Given the description of an element on the screen output the (x, y) to click on. 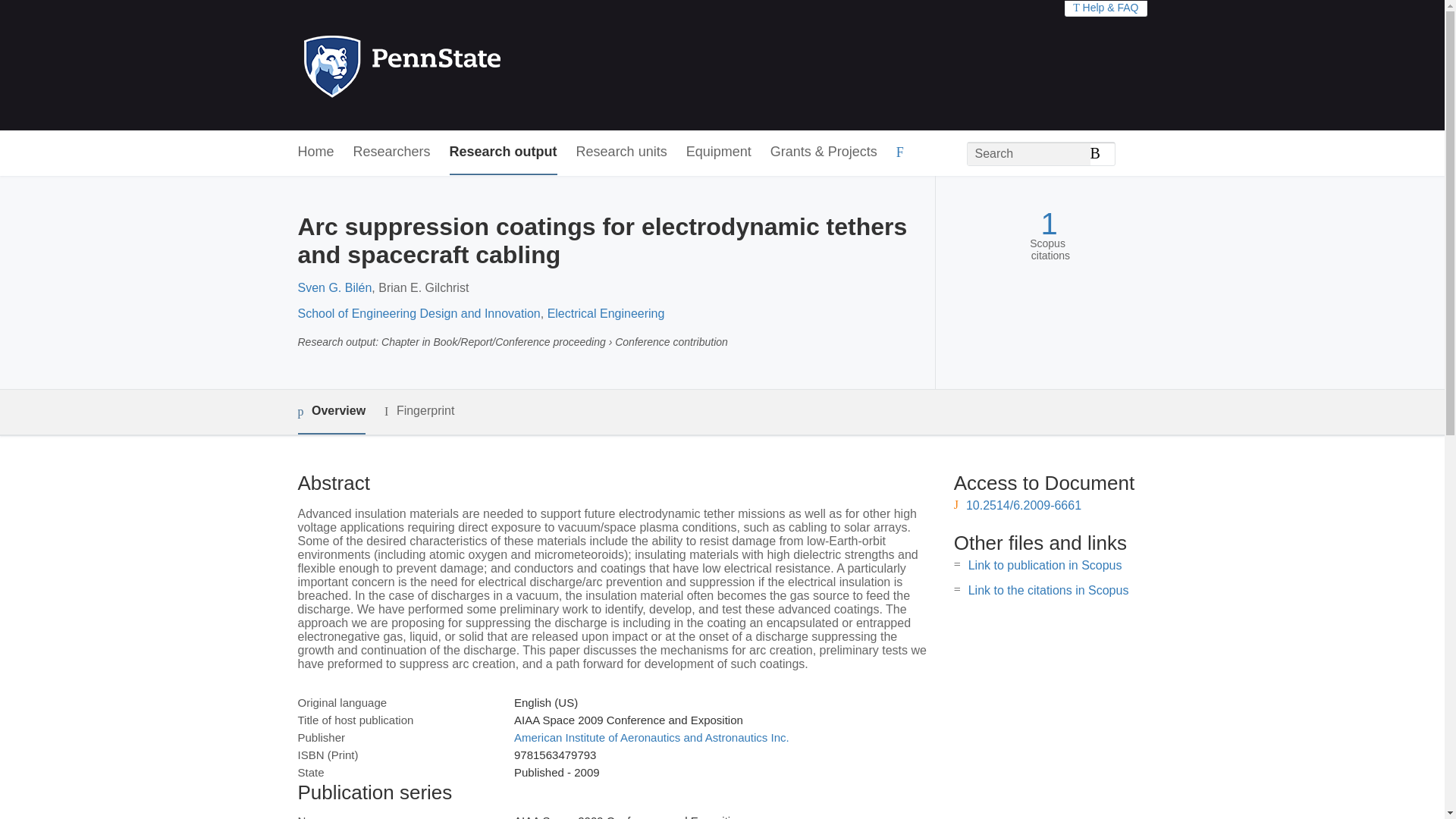
Electrical Engineering (606, 313)
Penn State Home (467, 65)
Fingerprint (419, 411)
American Institute of Aeronautics and Astronautics Inc. (651, 737)
Link to publication in Scopus (1045, 564)
Equipment (718, 152)
Research units (621, 152)
School of Engineering Design and Innovation (418, 313)
Link to the citations in Scopus (1048, 590)
Research output (503, 152)
